Given the description of an element on the screen output the (x, y) to click on. 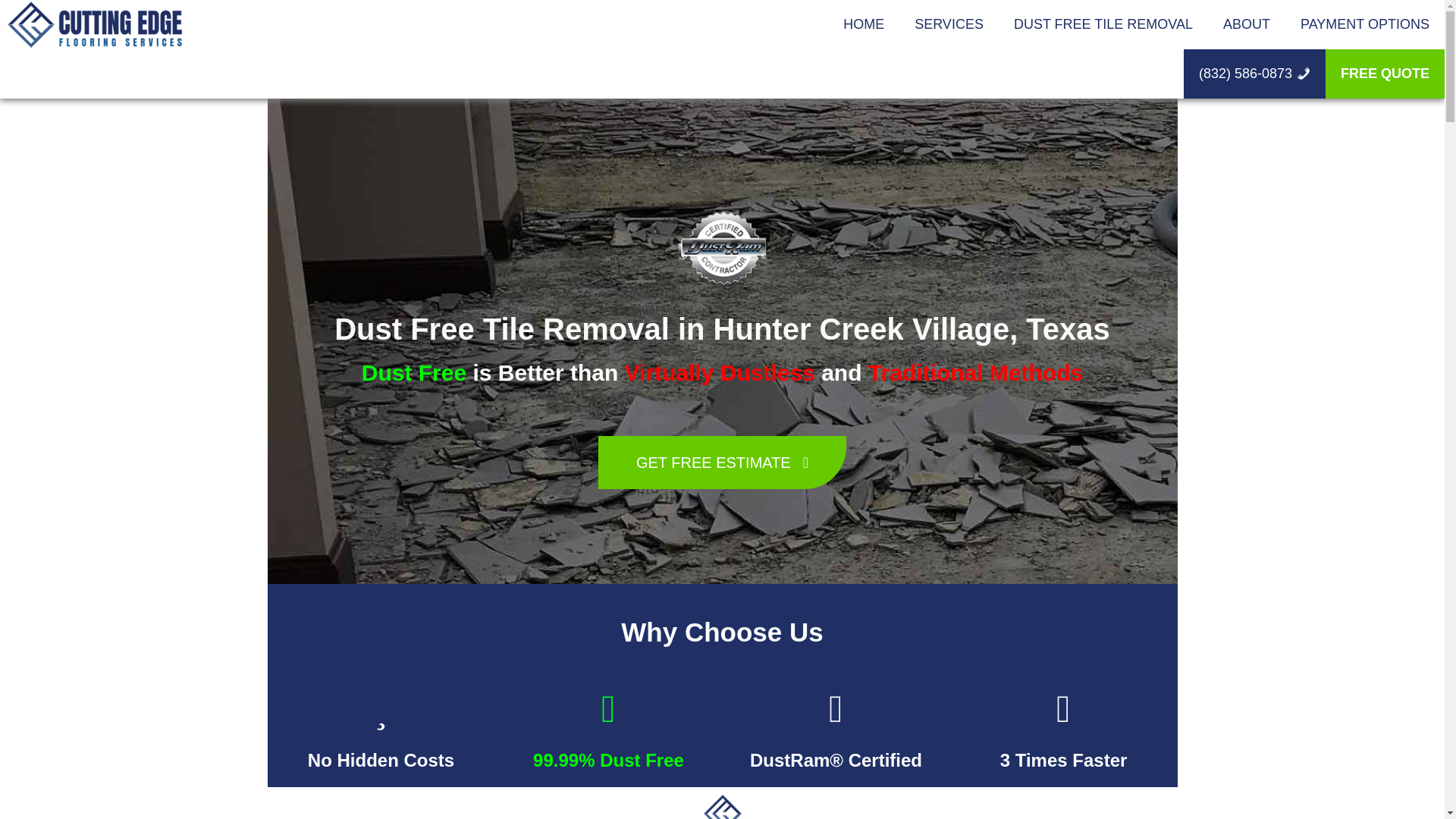
Cutting Edge Tile (94, 24)
HOME (863, 24)
ABOUT (1246, 24)
GET FREE ESTIMATE (721, 461)
DUST FREE TILE REMOVAL (1103, 24)
SERVICES (948, 24)
